Given the description of an element on the screen output the (x, y) to click on. 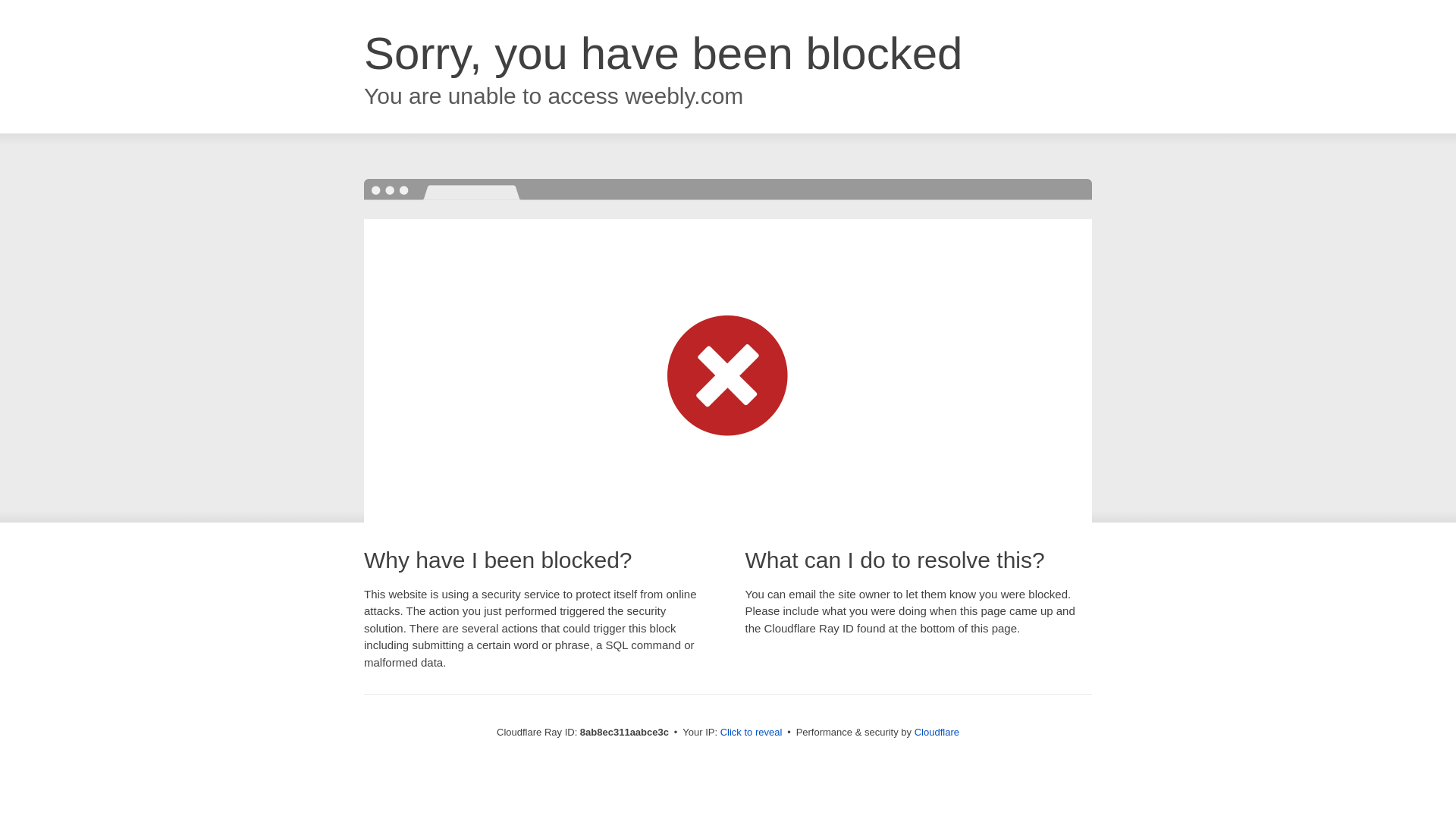
Click to reveal (751, 732)
Cloudflare (936, 731)
